Given the description of an element on the screen output the (x, y) to click on. 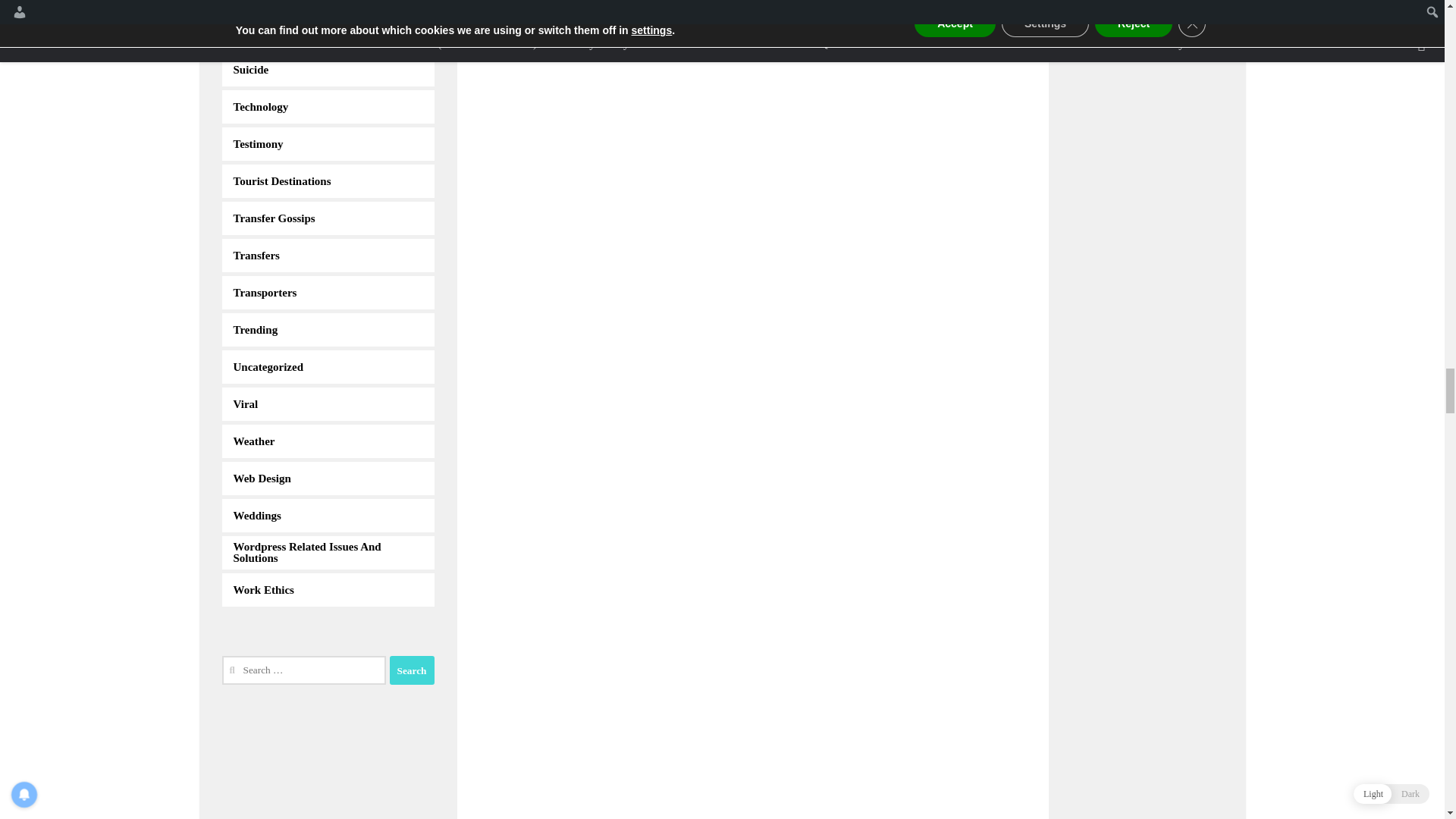
Search (411, 670)
Search (411, 670)
